Given the description of an element on the screen output the (x, y) to click on. 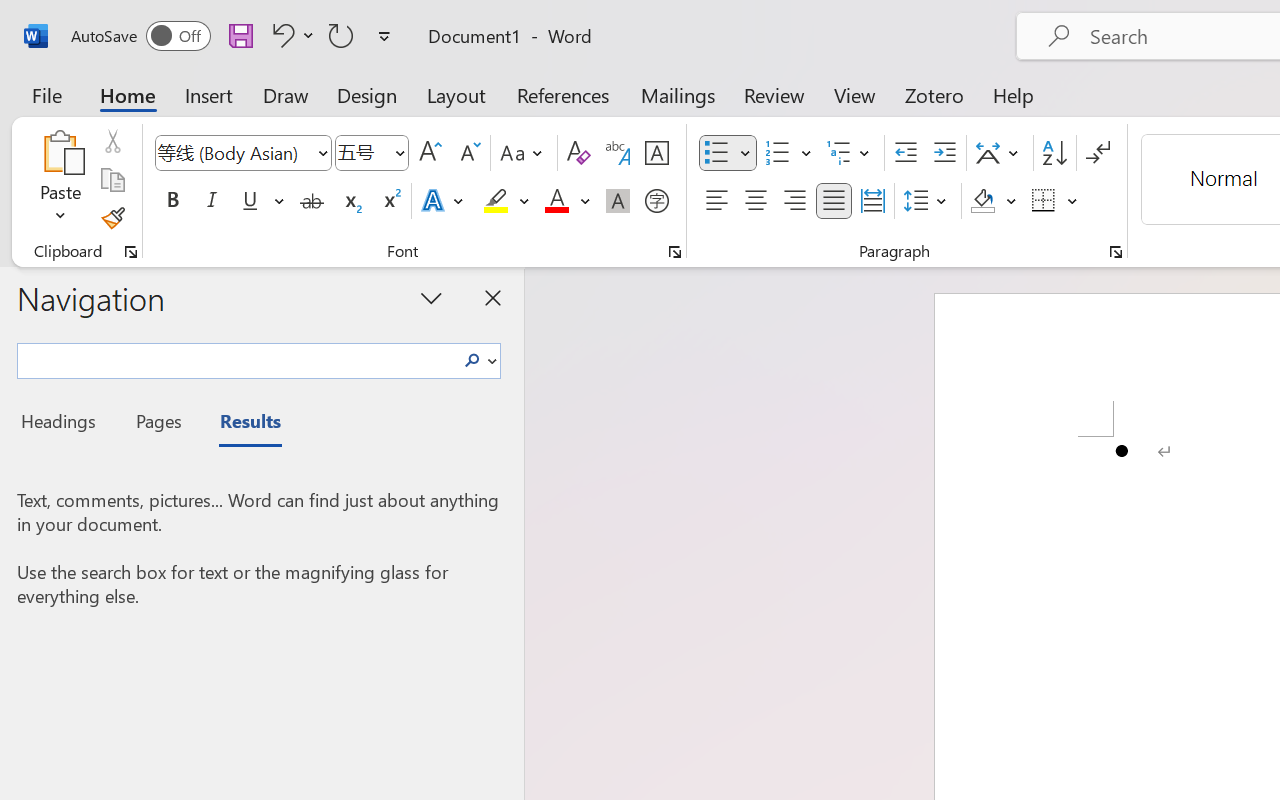
Undo Bullet Default (280, 35)
Search document (236, 358)
Pages (156, 424)
